Given the description of an element on the screen output the (x, y) to click on. 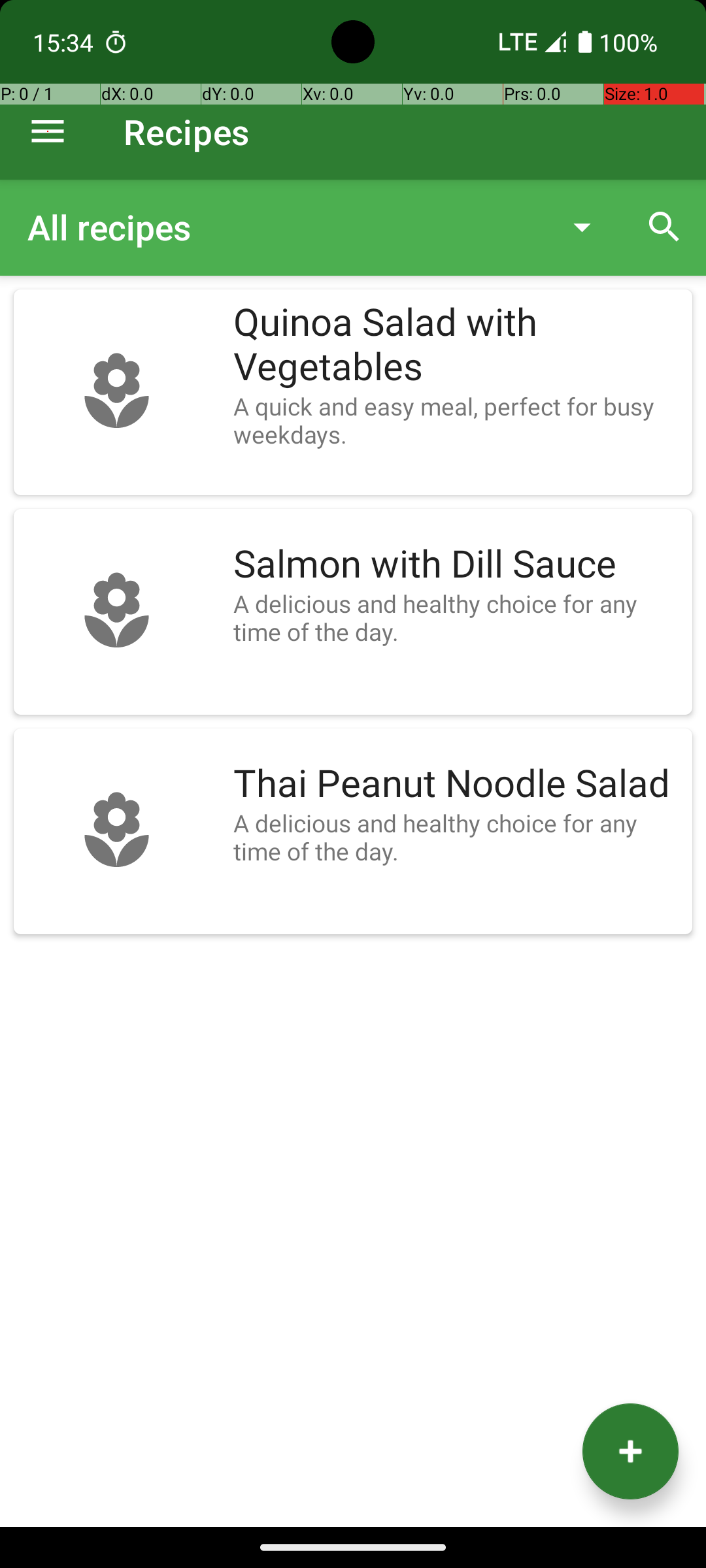
Salmon with Dill Sauce Element type: android.widget.TextView (455, 564)
Thai Peanut Noodle Salad Element type: android.widget.TextView (455, 783)
